Given the description of an element on the screen output the (x, y) to click on. 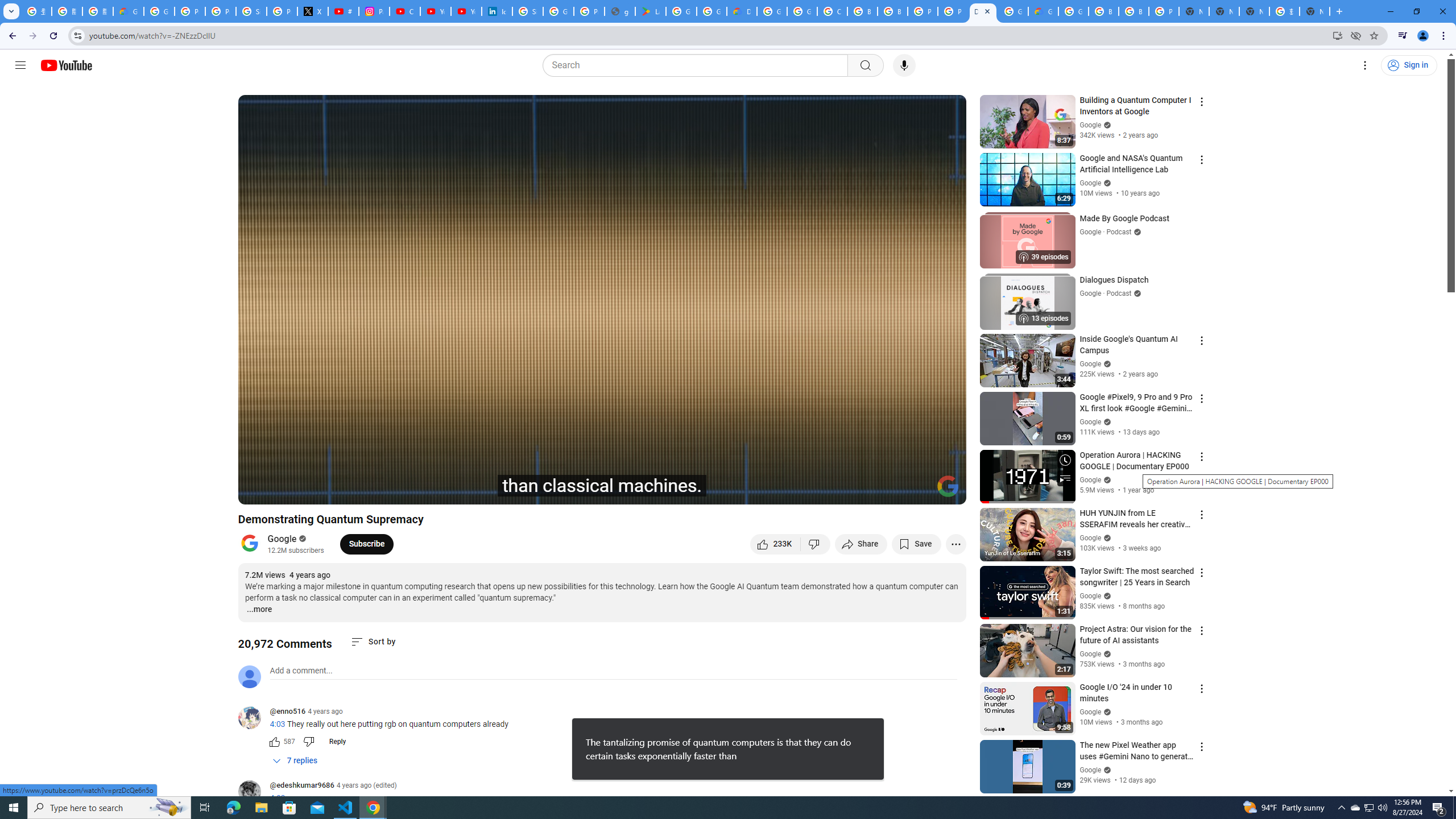
@edeshkumar9686 (253, 792)
Miniplayer (i) (890, 490)
Theater mode (t) (917, 490)
Install YouTube (1336, 35)
